Given the description of an element on the screen output the (x, y) to click on. 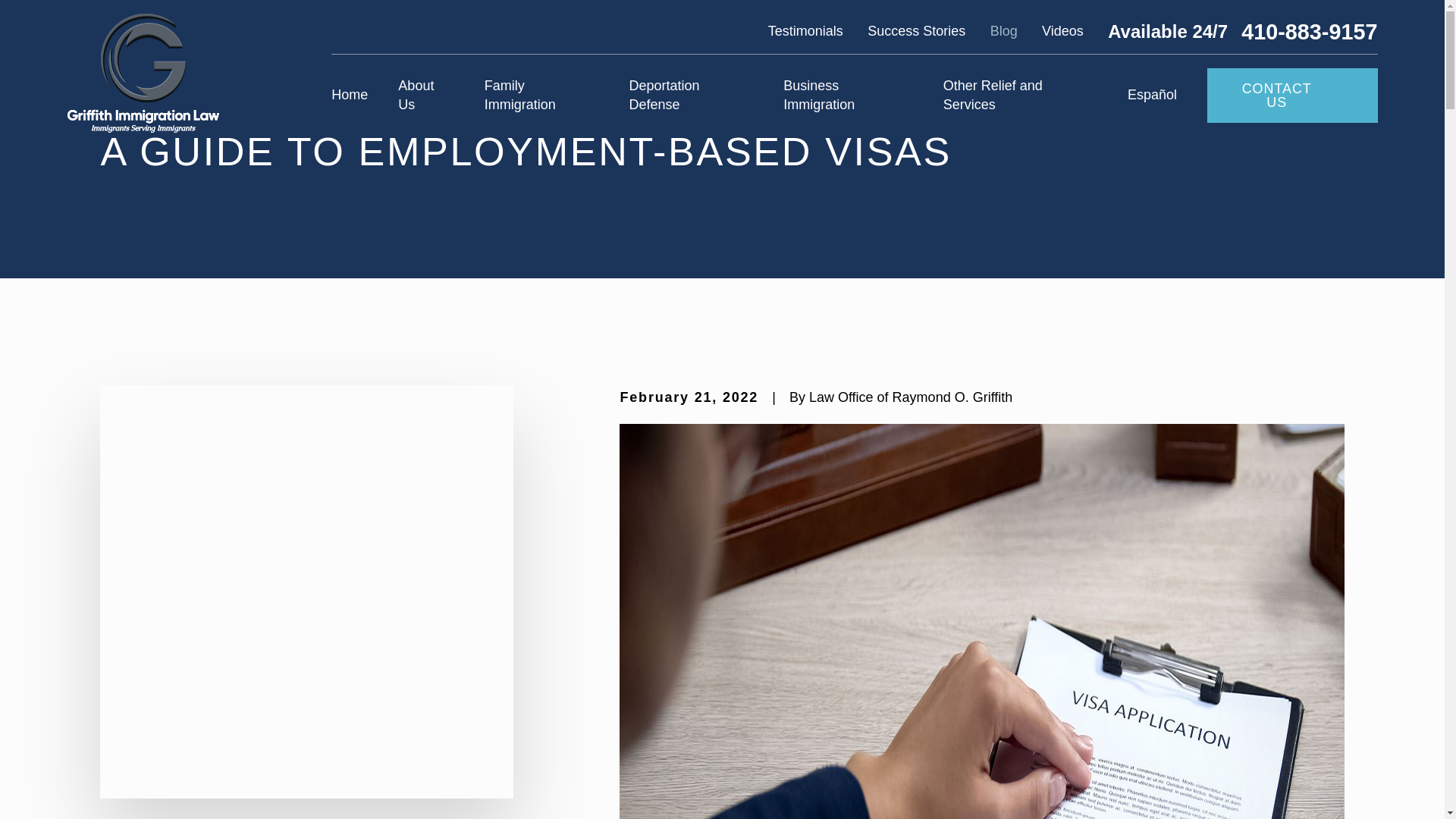
Blog (1003, 30)
About Us (424, 94)
Home (349, 94)
410-883-9157 (1309, 32)
Home (142, 73)
Success Stories (916, 30)
Videos (1062, 30)
Business Immigration (847, 94)
Testimonials (805, 30)
Family Immigration (541, 94)
Deportation Defense (690, 94)
Law Office Of Raymond O. Griffith (142, 72)
